Given the description of an element on the screen output the (x, y) to click on. 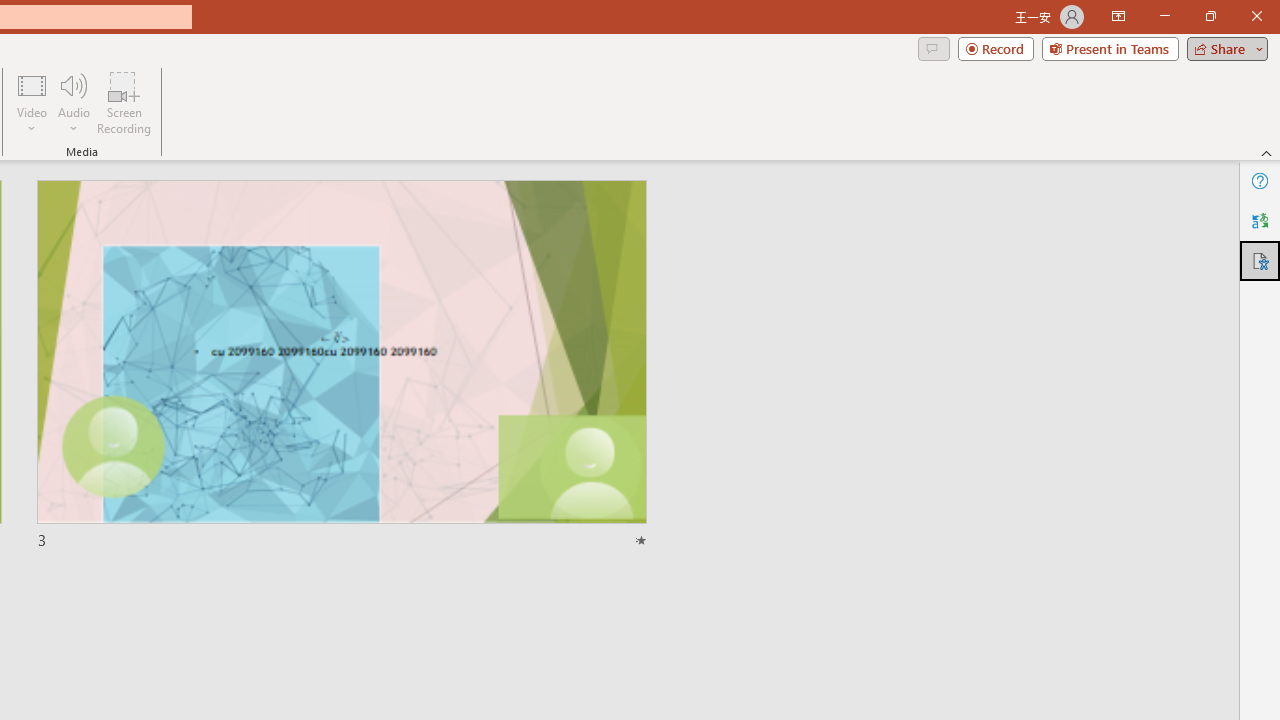
Video (31, 102)
Screen Recording... (123, 102)
